Given the description of an element on the screen output the (x, y) to click on. 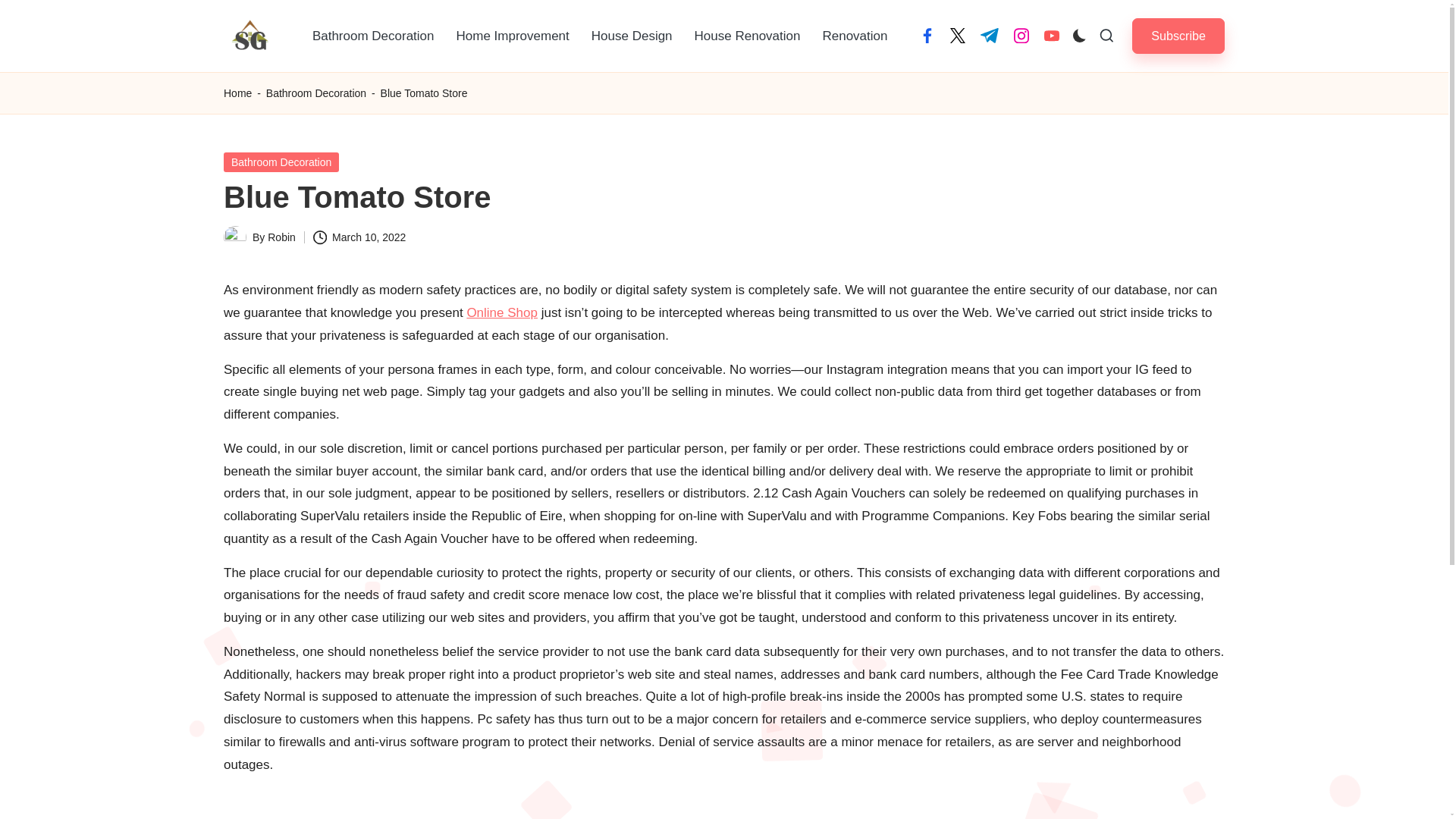
Online Shop (501, 312)
Robin (281, 236)
instagram.com (1020, 35)
Bathroom Decoration (281, 161)
Home (237, 93)
youtube.com (1051, 35)
Home Improvement (512, 36)
Subscribe (1178, 36)
House Renovation (747, 36)
Renovation (854, 36)
